Given the description of an element on the screen output the (x, y) to click on. 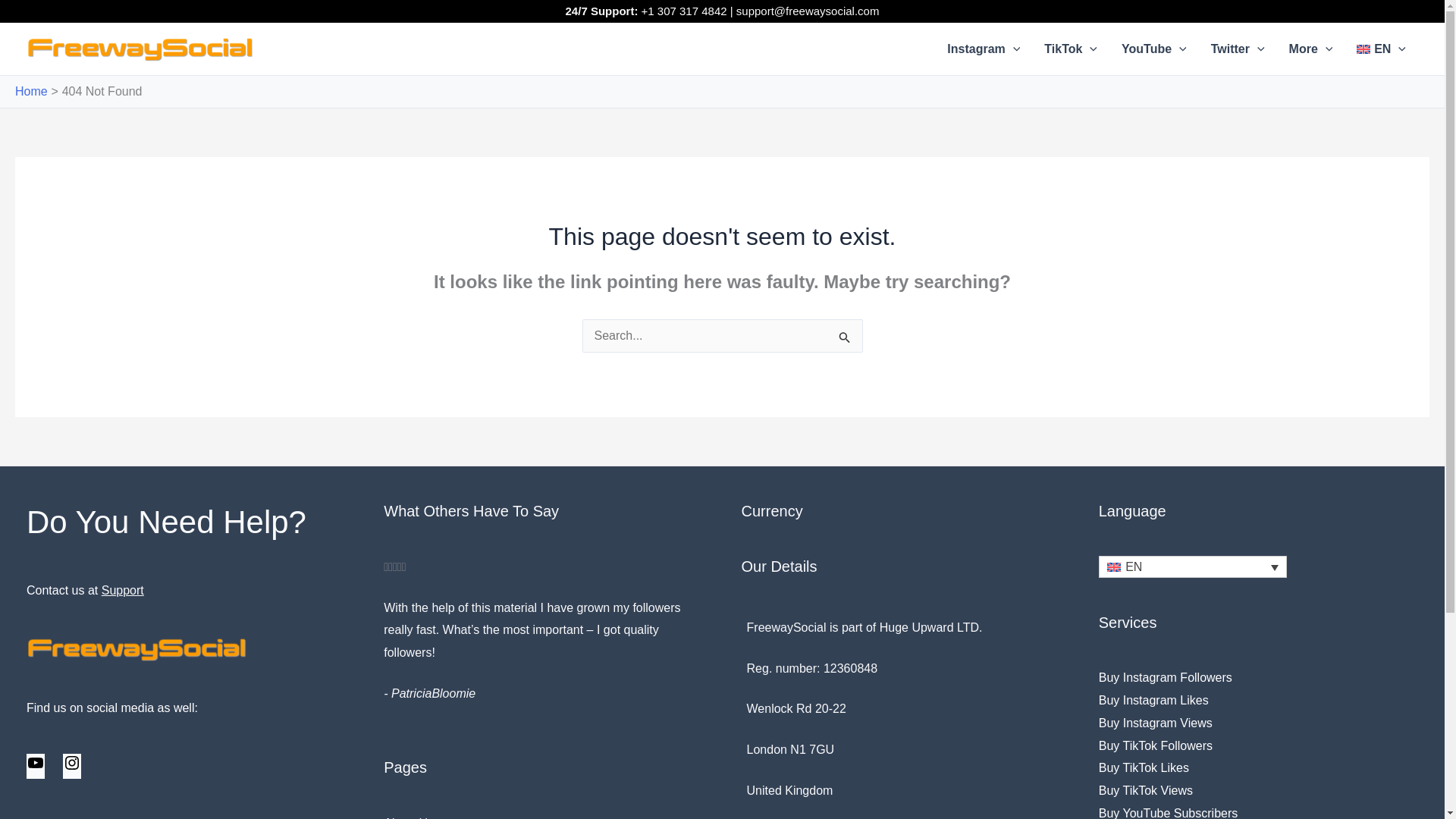
TikTok (1070, 48)
Twitter (1237, 48)
Instagram (983, 48)
YouTube (1153, 48)
More (1310, 48)
Search (844, 346)
EN (1380, 48)
Search (844, 346)
